Given the description of an element on the screen output the (x, y) to click on. 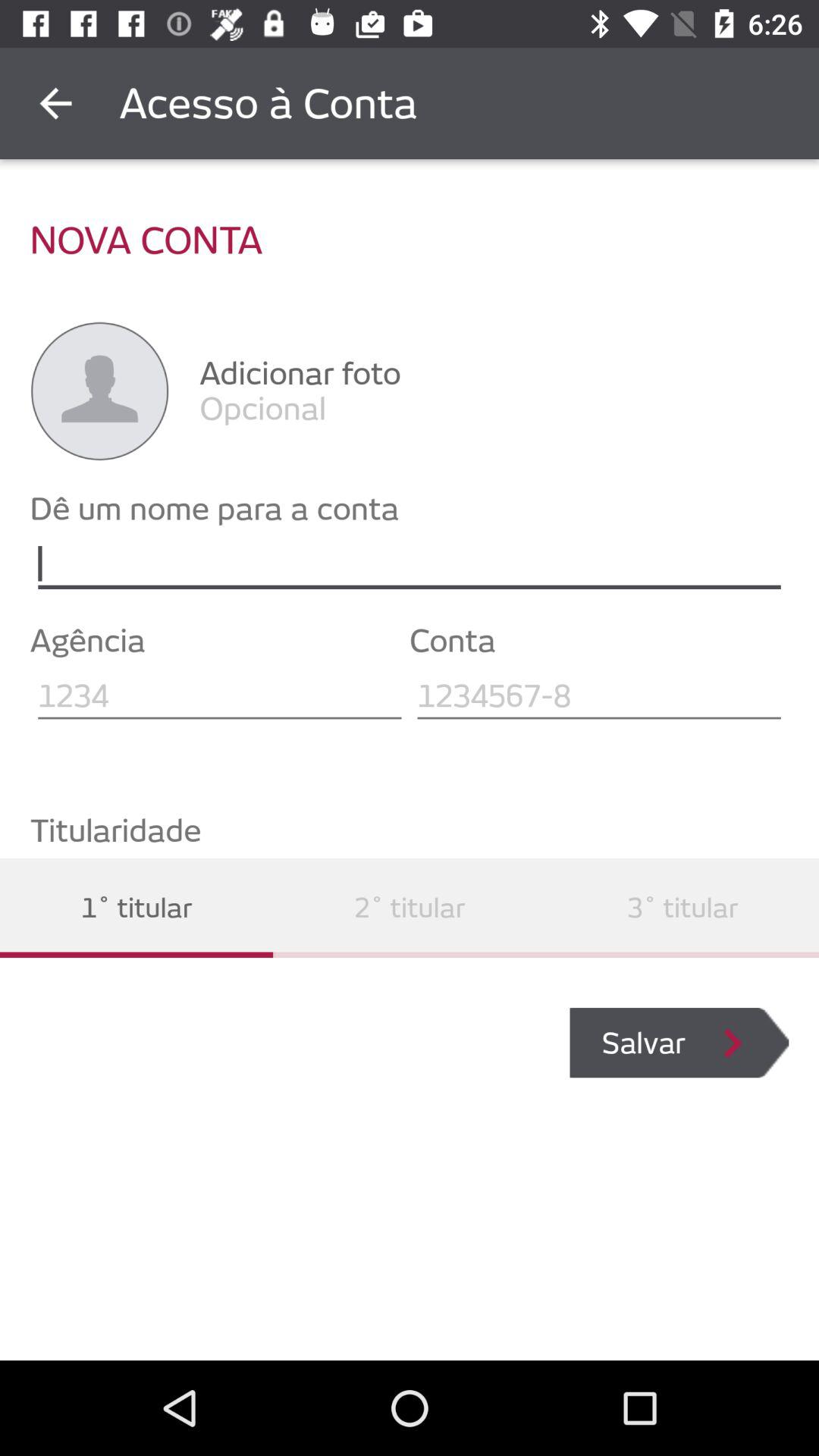
enter text in text field (598, 696)
